Given the description of an element on the screen output the (x, y) to click on. 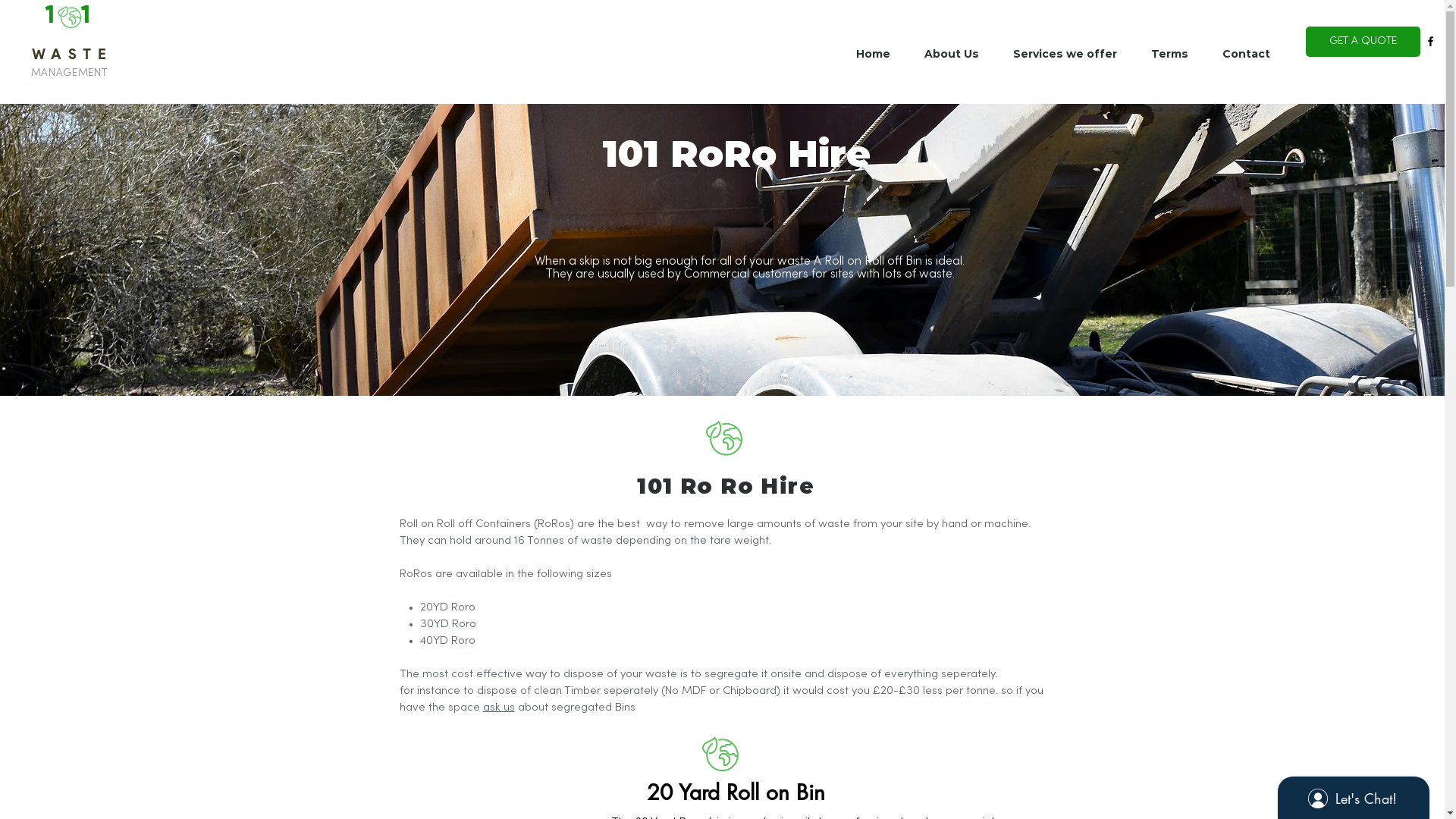
GET A QUOTE Element type: text (1362, 41)
Services we offer Element type: text (1070, 53)
ask us Element type: text (498, 707)
Home Element type: text (878, 53)
Contact Element type: text (1251, 53)
Terms Element type: text (1175, 53)
About Us Element type: text (957, 53)
